Given the description of an element on the screen output the (x, y) to click on. 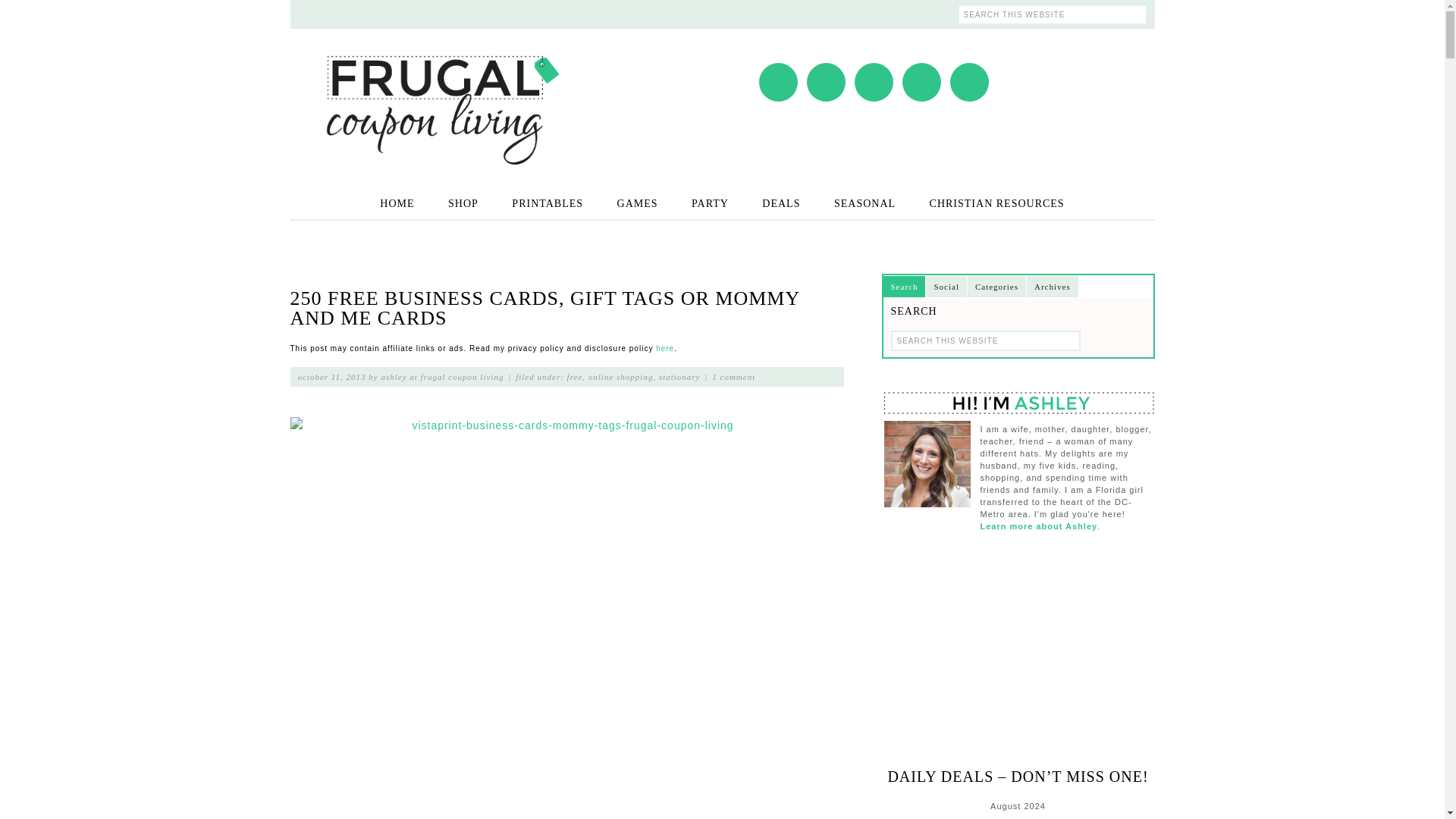
PARTY (710, 203)
Frugal Coupon Living (441, 90)
PRINTABLES (547, 203)
SEASONAL (864, 203)
GAMES (637, 203)
CHRISTIAN RESOURCES (997, 203)
